Given the description of an element on the screen output the (x, y) to click on. 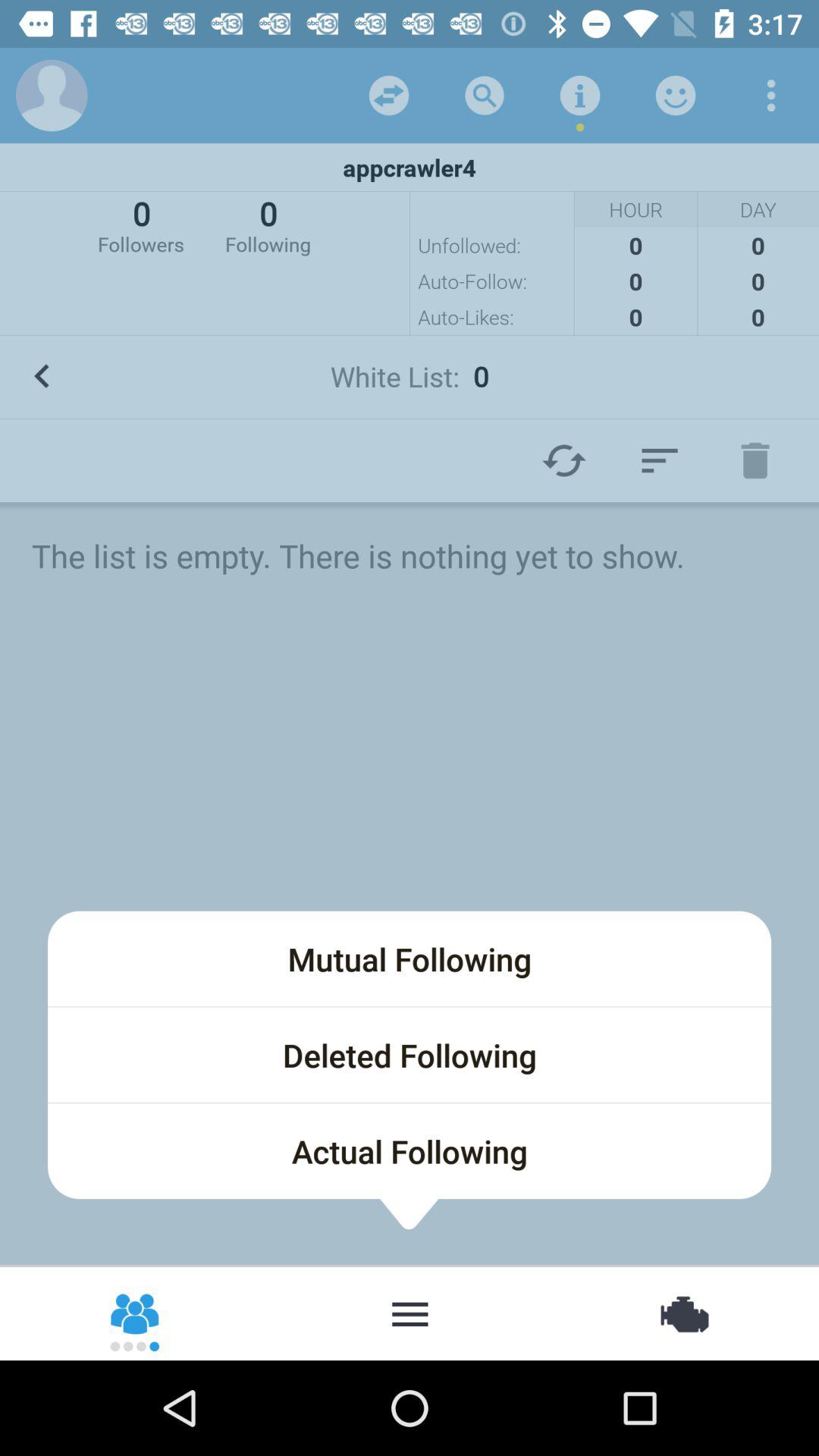
click the mutual following (409, 958)
